Given the description of an element on the screen output the (x, y) to click on. 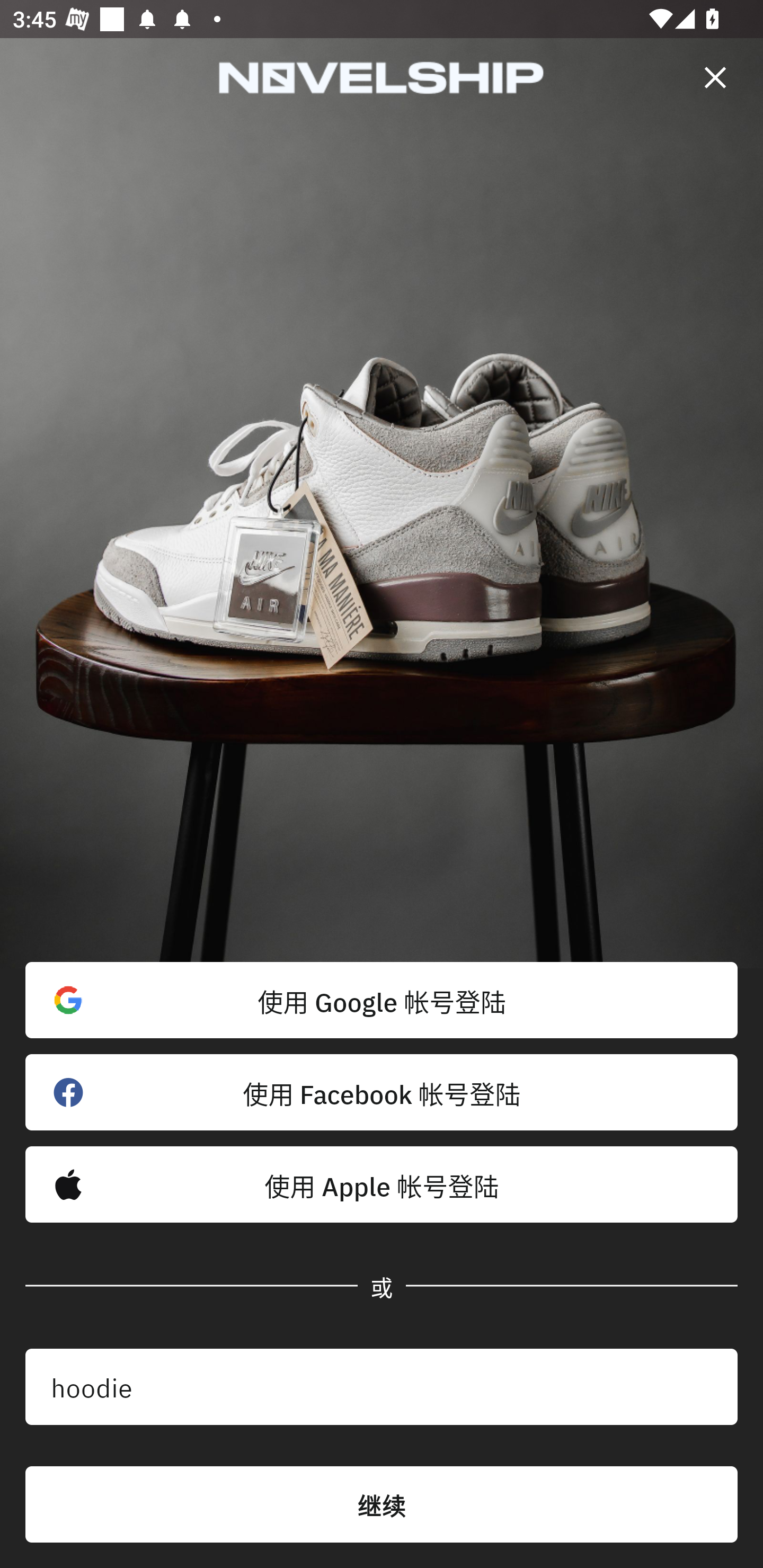
使用 Google 帐号登陆 (381, 1000)
使用 Facebook 帐号登陆 󰈌 (381, 1091)
 使用 Apple 帐号登陆 (381, 1184)
hoodie (381, 1386)
继续 (381, 1504)
